Given the description of an element on the screen output the (x, y) to click on. 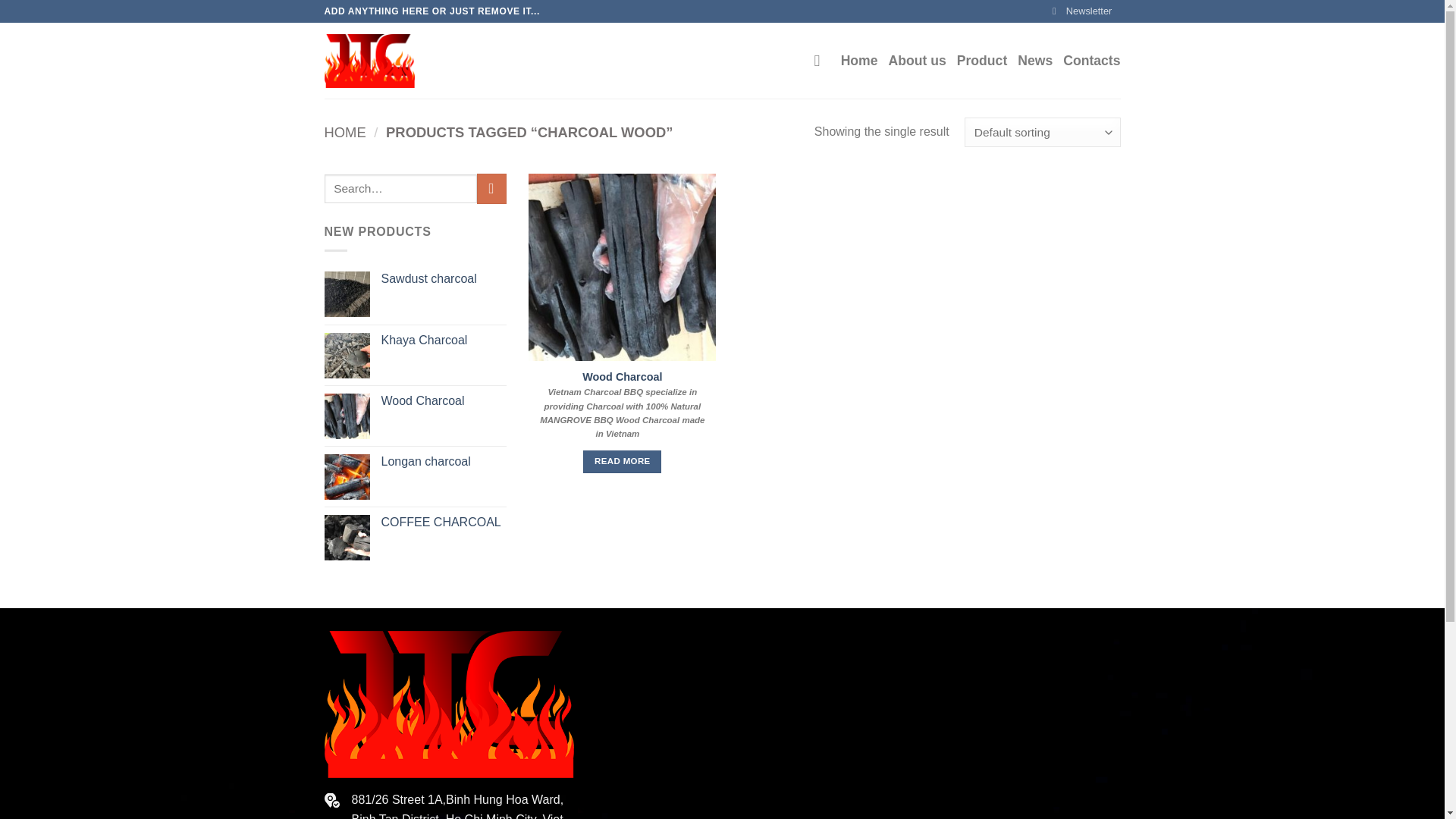
Longan charcoal (442, 462)
READ MORE (622, 461)
News (1034, 60)
Sign up for Newsletter (1082, 11)
Product (981, 60)
Wood Charcoal (621, 377)
COFFEE CHARCOAL (442, 522)
Newsletter (1082, 11)
Home (859, 60)
Contacts (1090, 60)
Khaya Charcoal (442, 340)
HOME (345, 132)
Wood Charcoal (442, 401)
About us (917, 60)
Sawdust charcoal (442, 279)
